Given the description of an element on the screen output the (x, y) to click on. 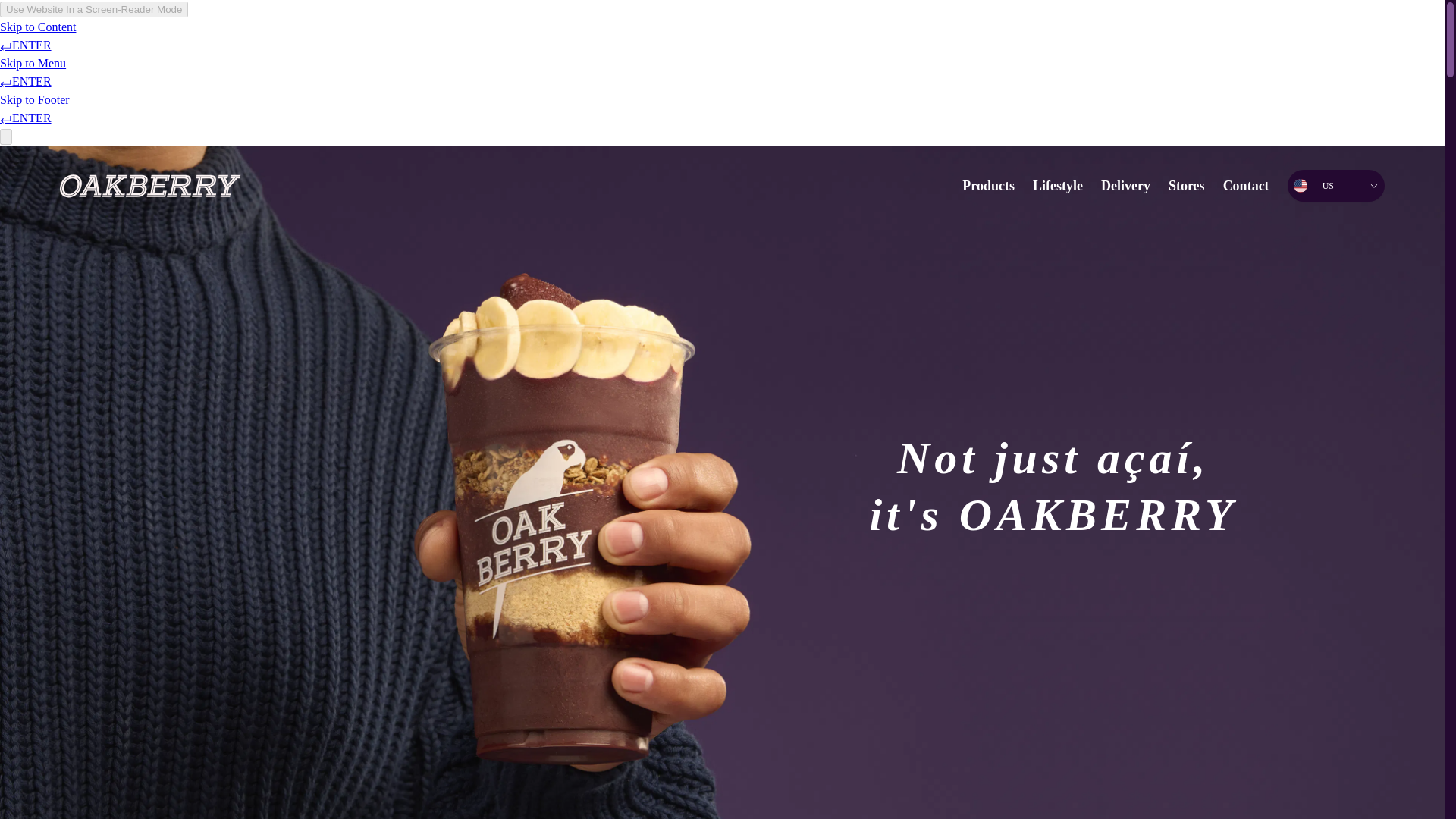
US (1335, 185)
Stores (1187, 185)
Delivery (1125, 185)
Products (988, 185)
Lifestyle (1057, 185)
Contact (1246, 185)
